Given the description of an element on the screen output the (x, y) to click on. 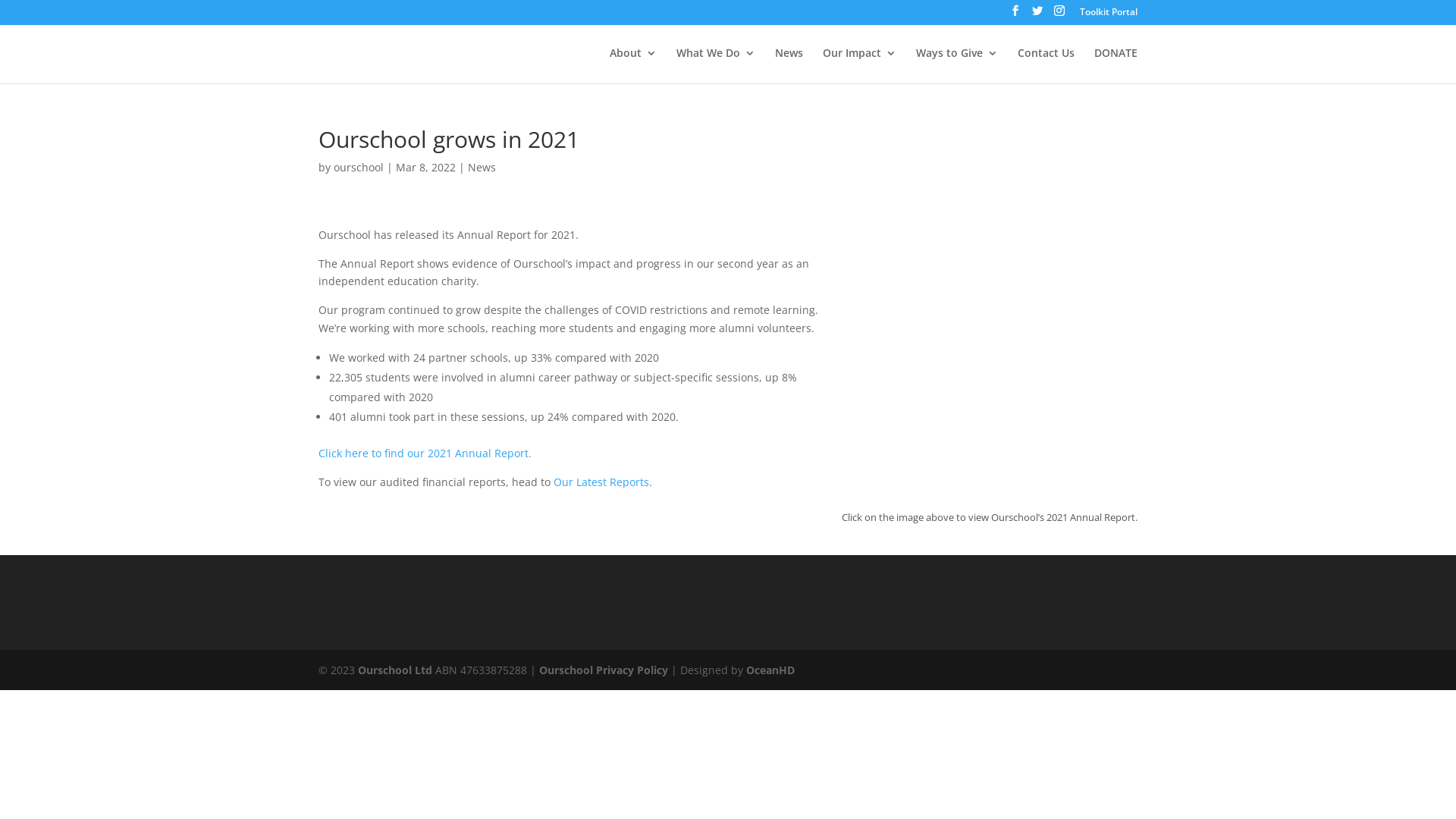
Click here to find our 2021 Annual Report. Element type: text (424, 452)
News Element type: text (481, 167)
Ourschool Ltd Element type: text (394, 669)
About Element type: text (632, 65)
News Element type: text (789, 65)
DONATE Element type: text (1115, 65)
Ways to Give Element type: text (956, 65)
What We Do Element type: text (715, 65)
OceanHD Element type: text (770, 669)
Our Impact Element type: text (859, 65)
Toolkit Portal Element type: text (1108, 15)
ourschool Element type: text (358, 167)
Ourschool Privacy Policy Element type: text (603, 669)
Our Latest Reports Element type: text (601, 481)
Contact Us Element type: text (1045, 65)
